Given the description of an element on the screen output the (x, y) to click on. 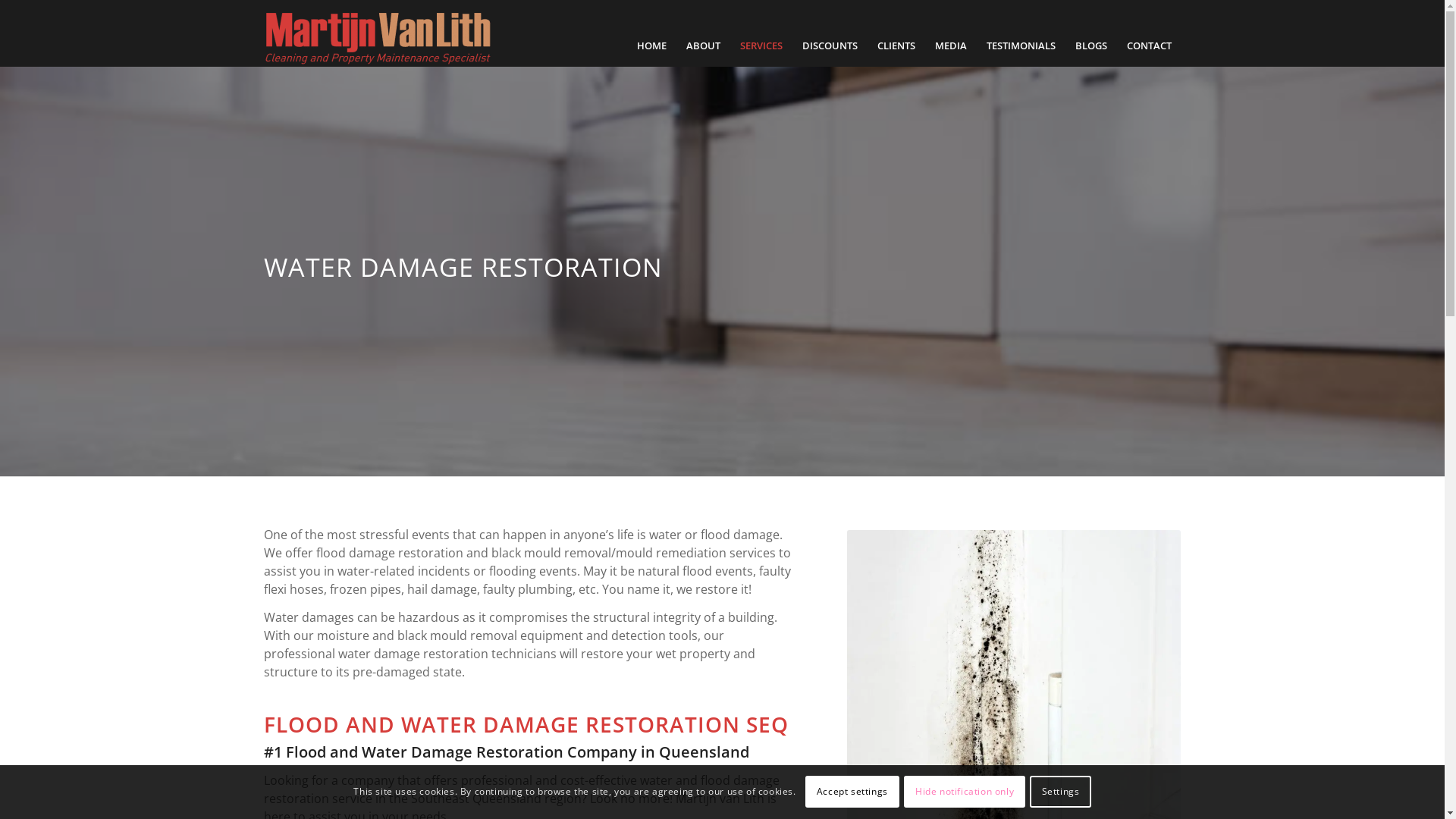
Hide notification only Element type: text (964, 791)
BLOGS Element type: text (1090, 45)
TESTIMONIALS Element type: text (1020, 45)
Accept settings Element type: text (852, 791)
CLIENTS Element type: text (896, 45)
DISCOUNTS Element type: text (828, 45)
CONTACT Element type: text (1148, 45)
Settings Element type: text (1059, 791)
MEDIA Element type: text (950, 45)
SERVICES Element type: text (760, 45)
HOME Element type: text (650, 45)
ABOUT Element type: text (703, 45)
